Given the description of an element on the screen output the (x, y) to click on. 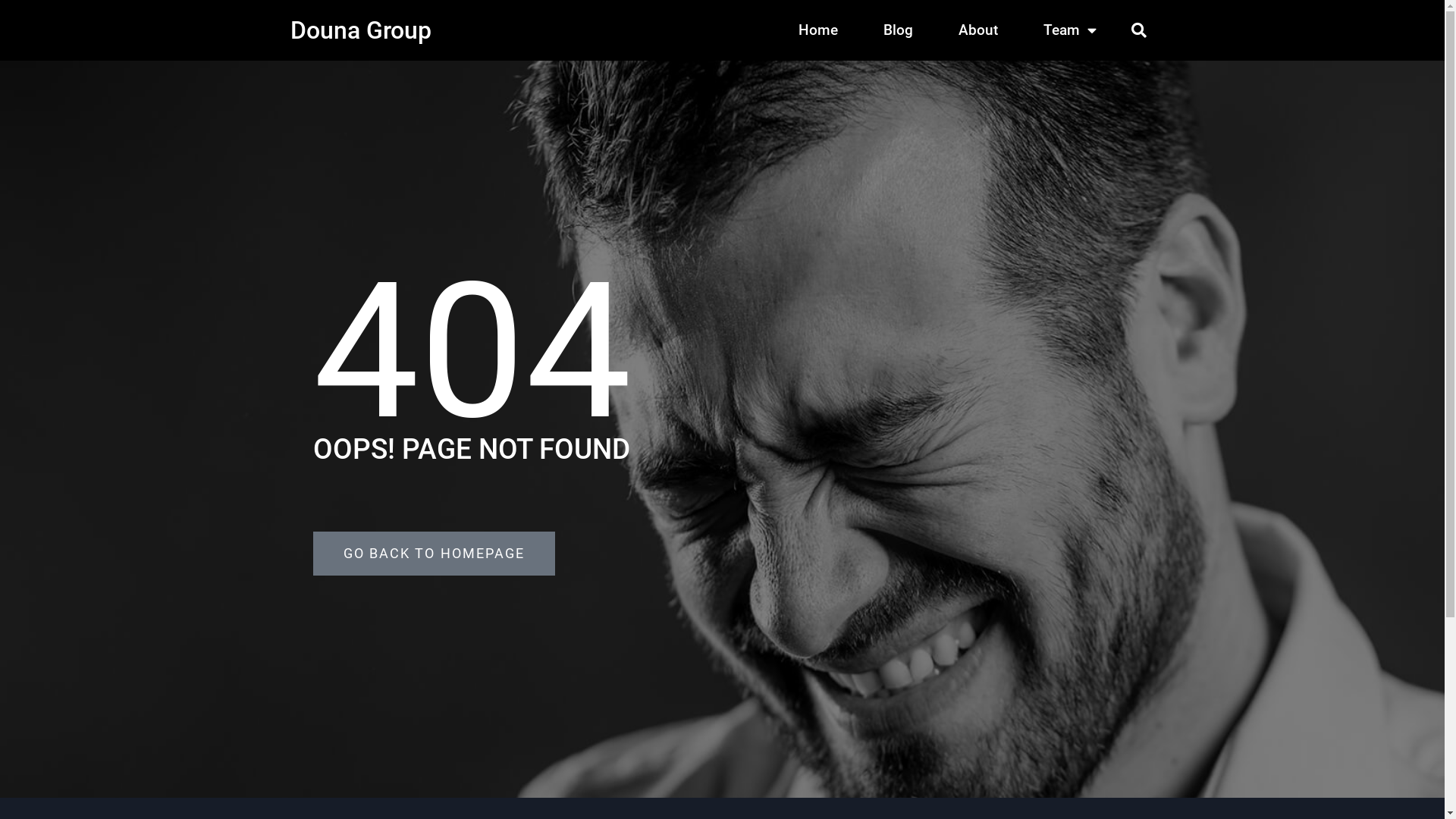
Team Element type: text (1068, 30)
GO BACK TO HOMEPAGE Element type: text (433, 552)
Home Element type: text (817, 30)
Blog Element type: text (897, 30)
About Element type: text (977, 30)
Douna Group Element type: text (359, 29)
